Given the description of an element on the screen output the (x, y) to click on. 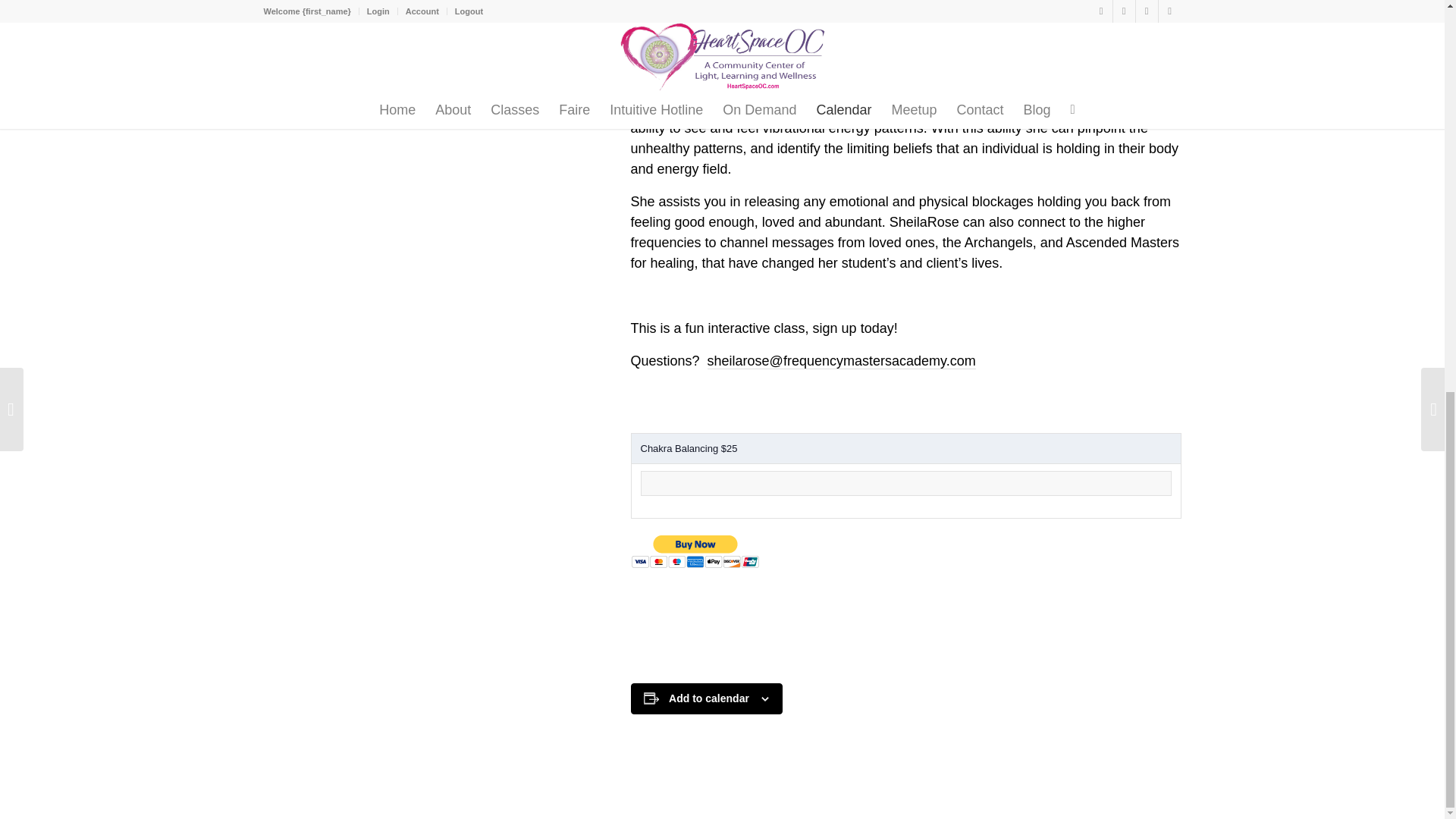
Add to calendar (708, 698)
